Given the description of an element on the screen output the (x, y) to click on. 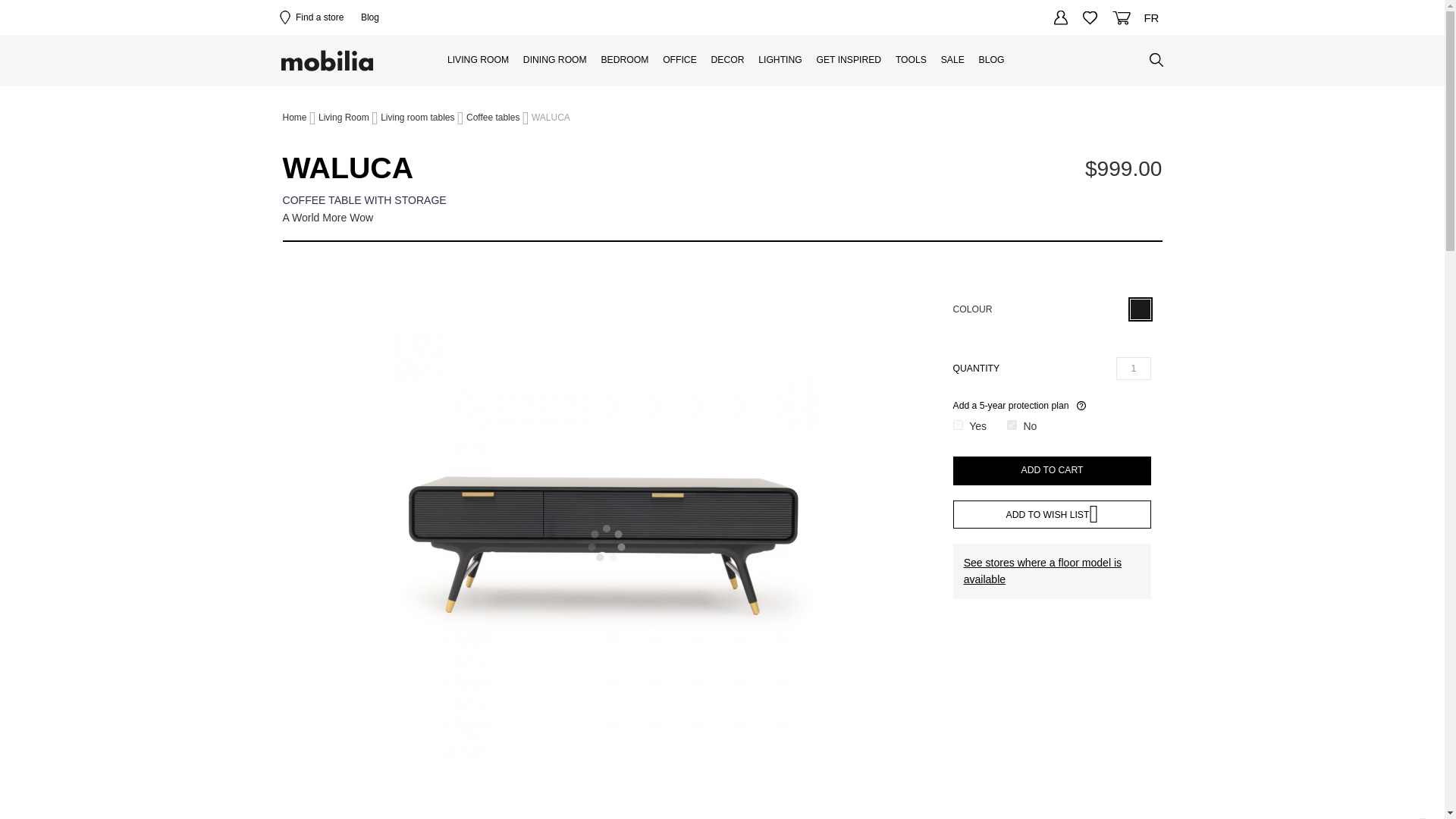
Add to Cart (1052, 470)
Find a store (310, 18)
1 (957, 424)
LIVING ROOM (477, 60)
Qty (1133, 368)
1 (1133, 368)
DINING ROOM (554, 60)
Mobilia (327, 60)
0 (1011, 424)
Go to Home Page (293, 117)
